Given the description of an element on the screen output the (x, y) to click on. 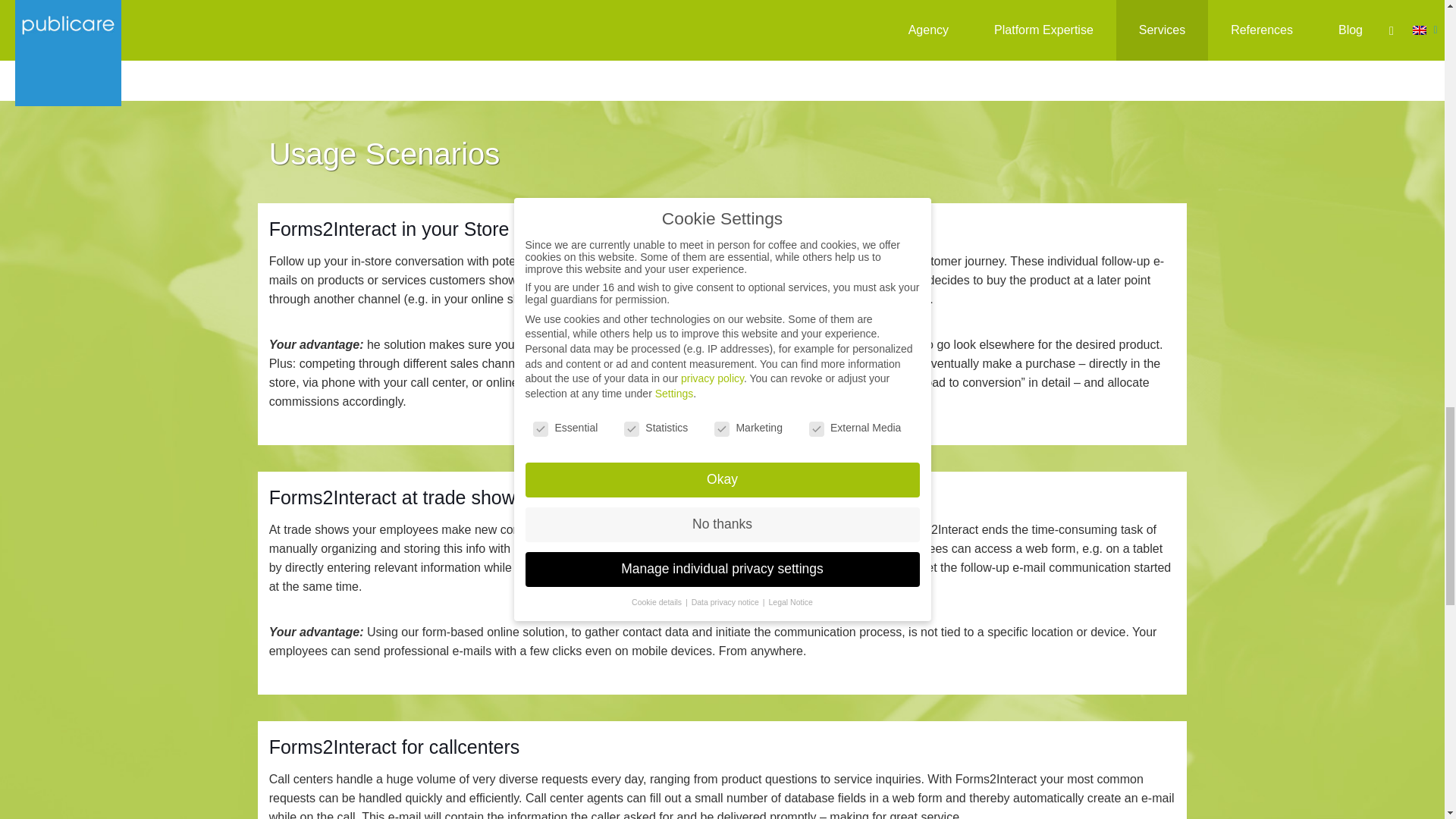
Liege (1032, 4)
